Given the description of an element on the screen output the (x, y) to click on. 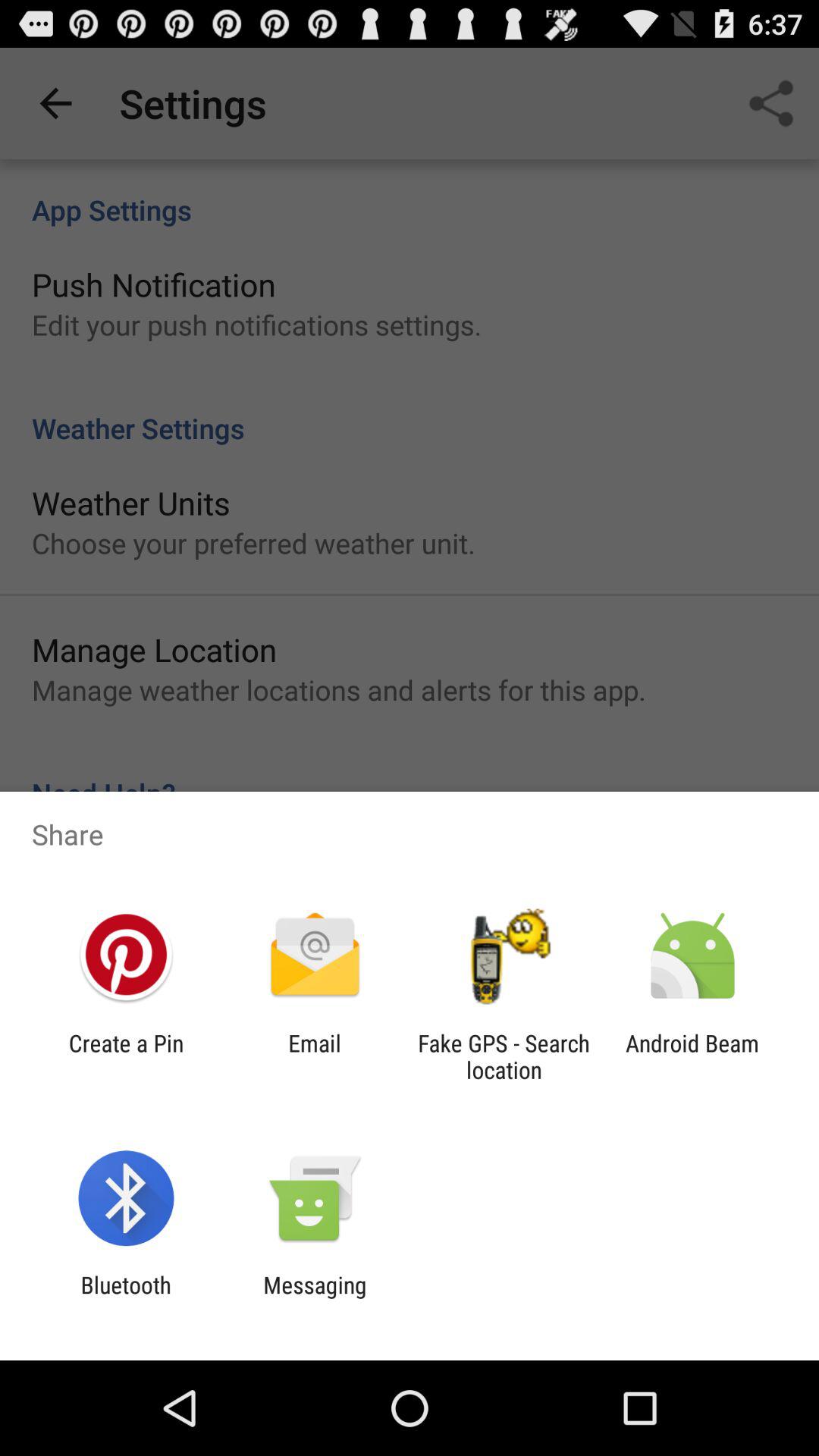
swipe to messaging icon (314, 1298)
